Given the description of an element on the screen output the (x, y) to click on. 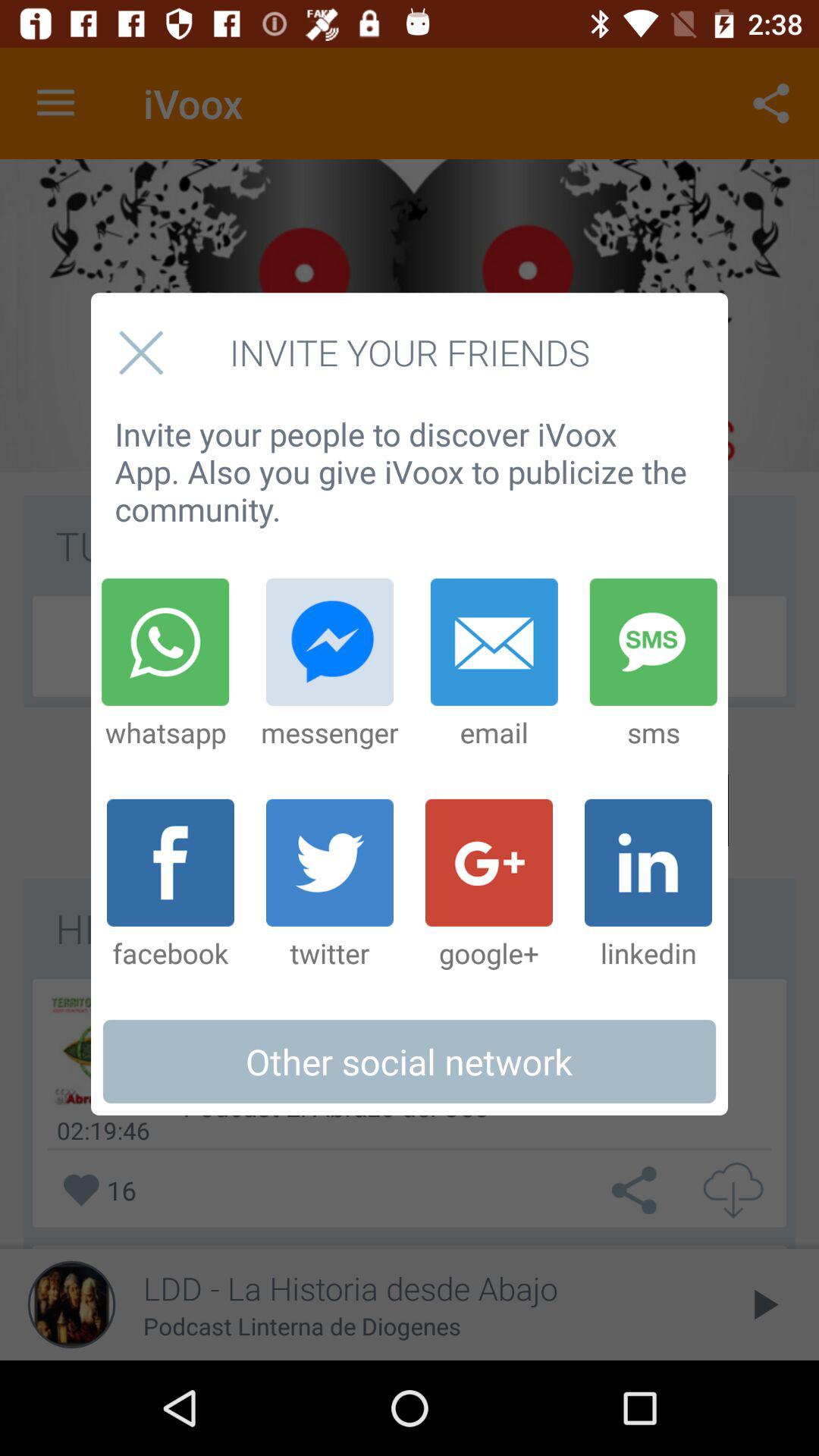
jump to facebook item (170, 885)
